Given the description of an element on the screen output the (x, y) to click on. 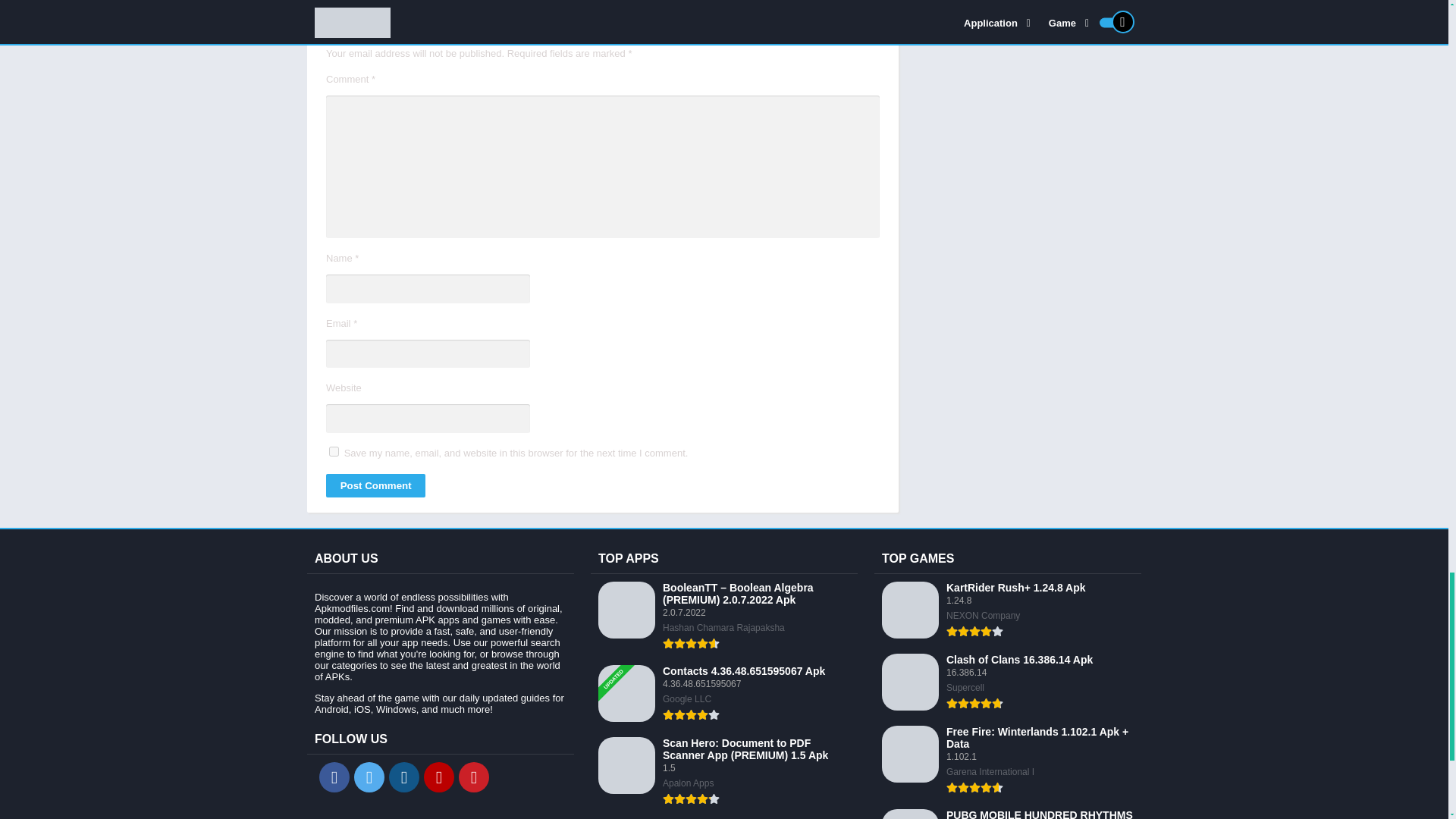
Post Comment (375, 485)
yes (334, 451)
